Given the description of an element on the screen output the (x, y) to click on. 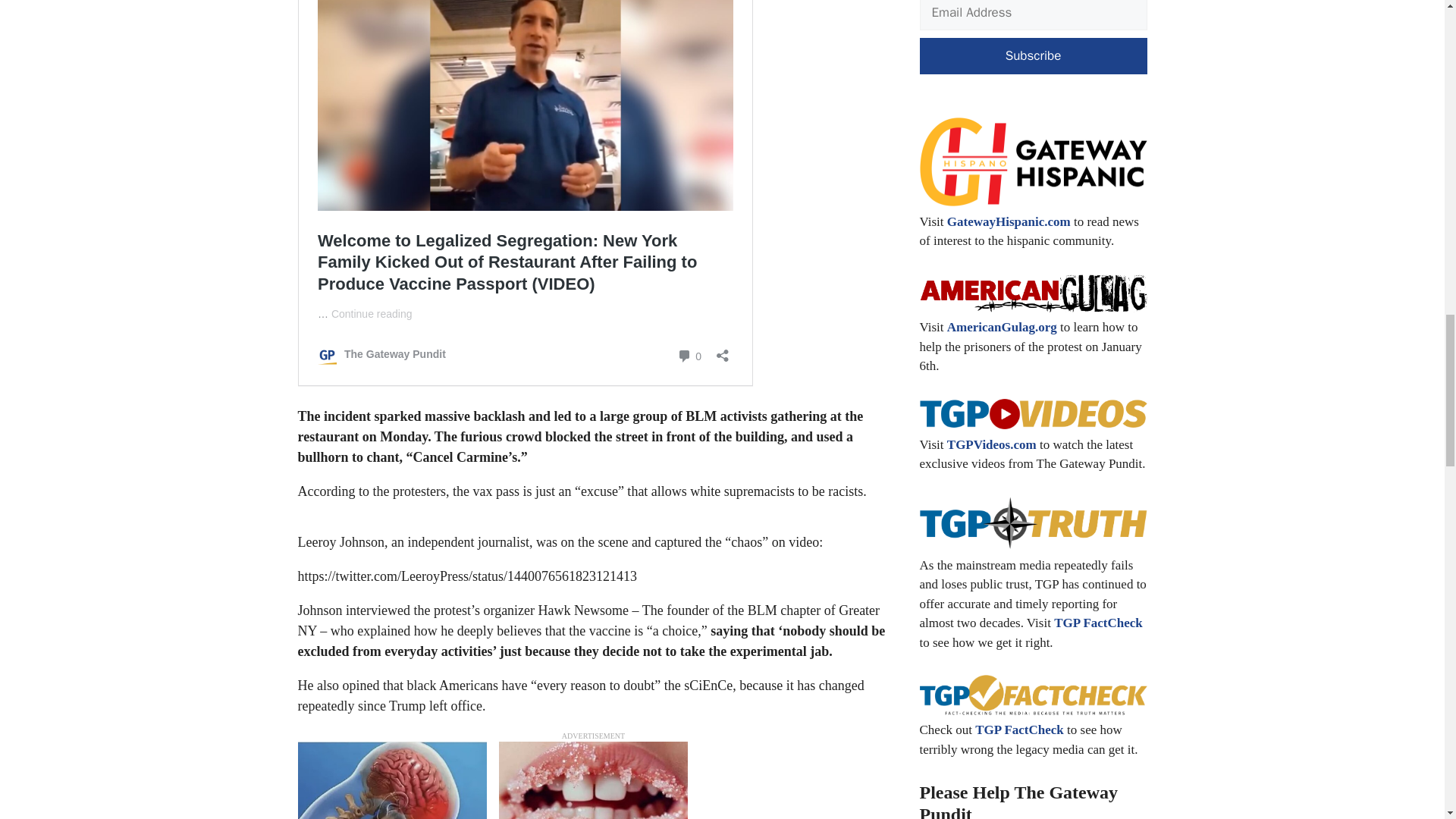
Subscribe (1032, 55)
